Given the description of an element on the screen output the (x, y) to click on. 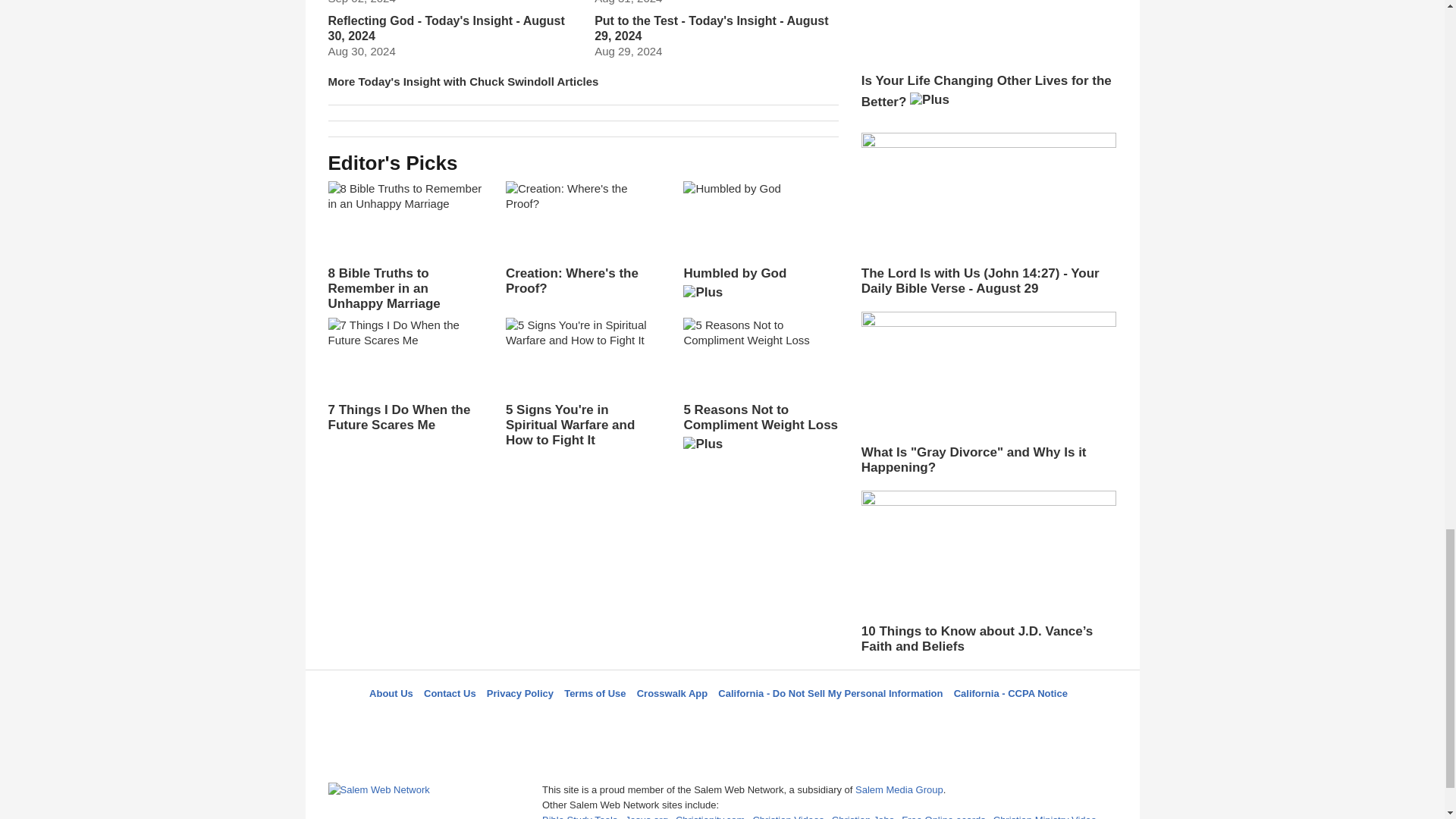
5 Signs You're in Spiritual Warfare and How to Fight It (583, 382)
Humbled by God (760, 245)
7 Things I Do When the Future Scares Me (404, 375)
Facebook (645, 720)
Creation: Where's the Proof? (583, 238)
LifeAudio (719, 720)
8 Bible Truths to Remember in an Unhappy Marriage (404, 246)
Twitter (683, 720)
Pinterest (757, 720)
YouTube (795, 720)
